Given the description of an element on the screen output the (x, y) to click on. 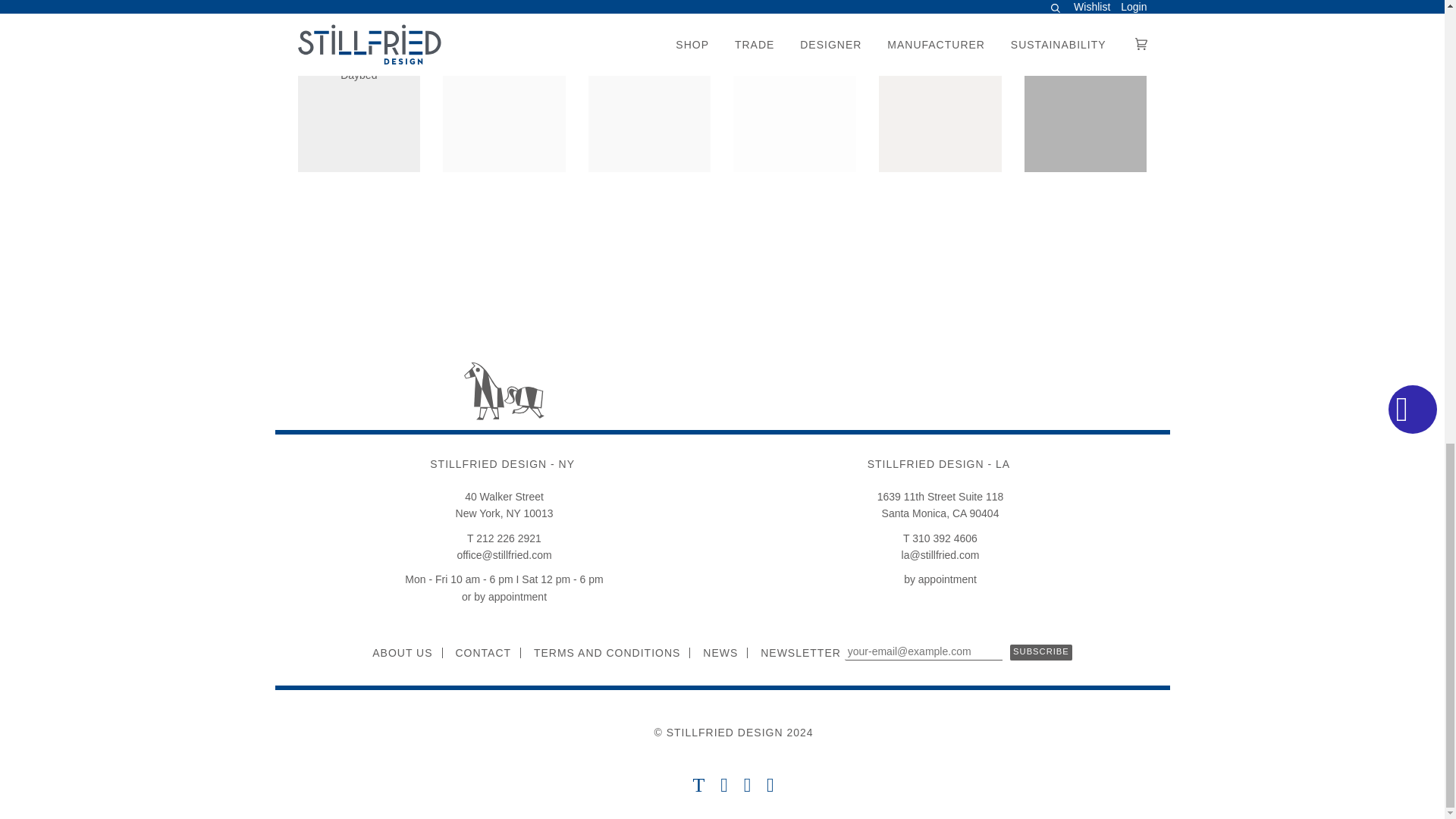
Subscribe (1040, 652)
Stillfried Design on Twitter (698, 787)
tel:1-212-226-2921 (504, 538)
